Given the description of an element on the screen output the (x, y) to click on. 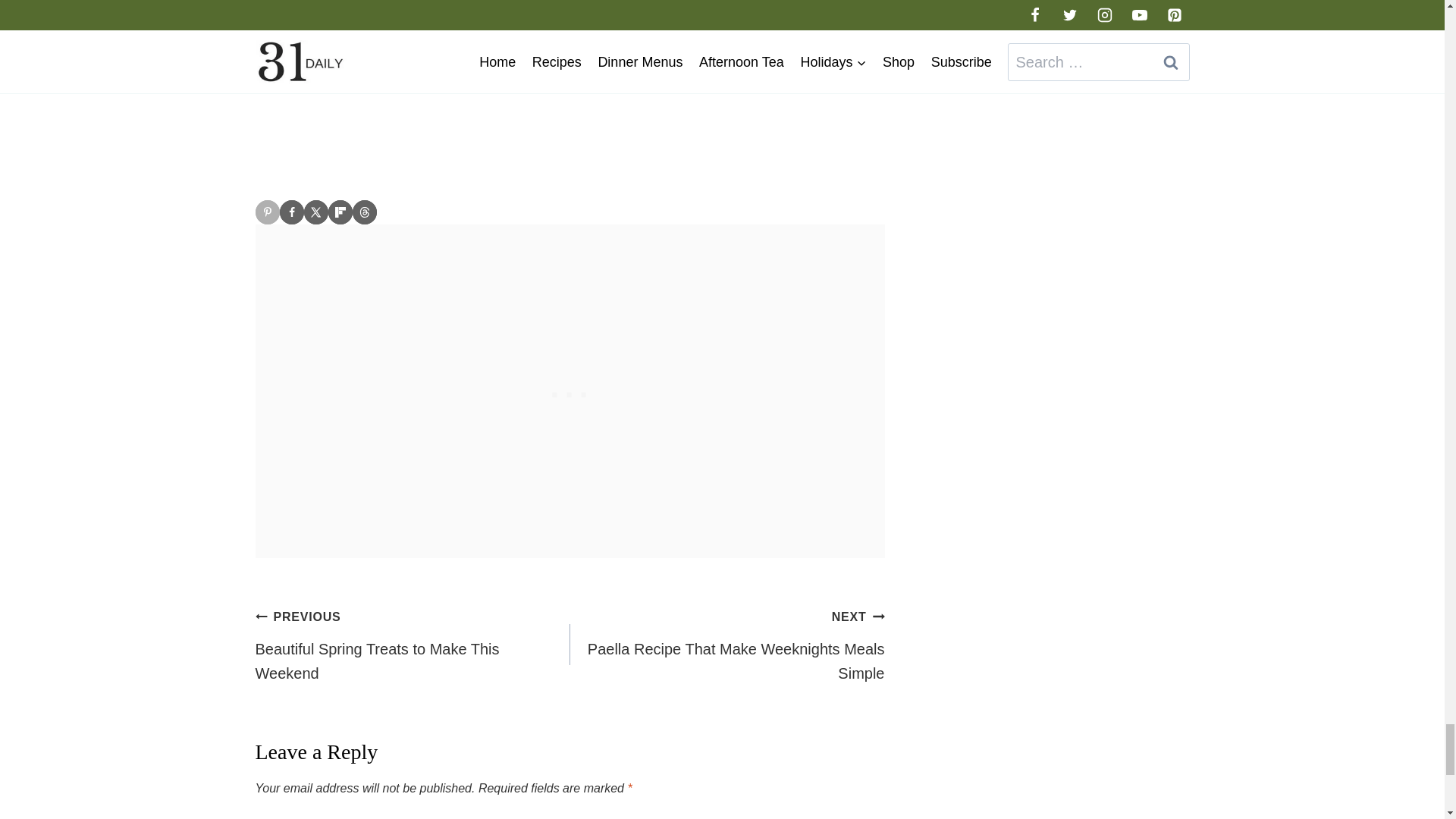
Share on Facebook (290, 211)
Share on Threads (363, 211)
Share on X (314, 211)
Save to Pinterest (266, 211)
Share on Flipboard (339, 211)
